Given the description of an element on the screen output the (x, y) to click on. 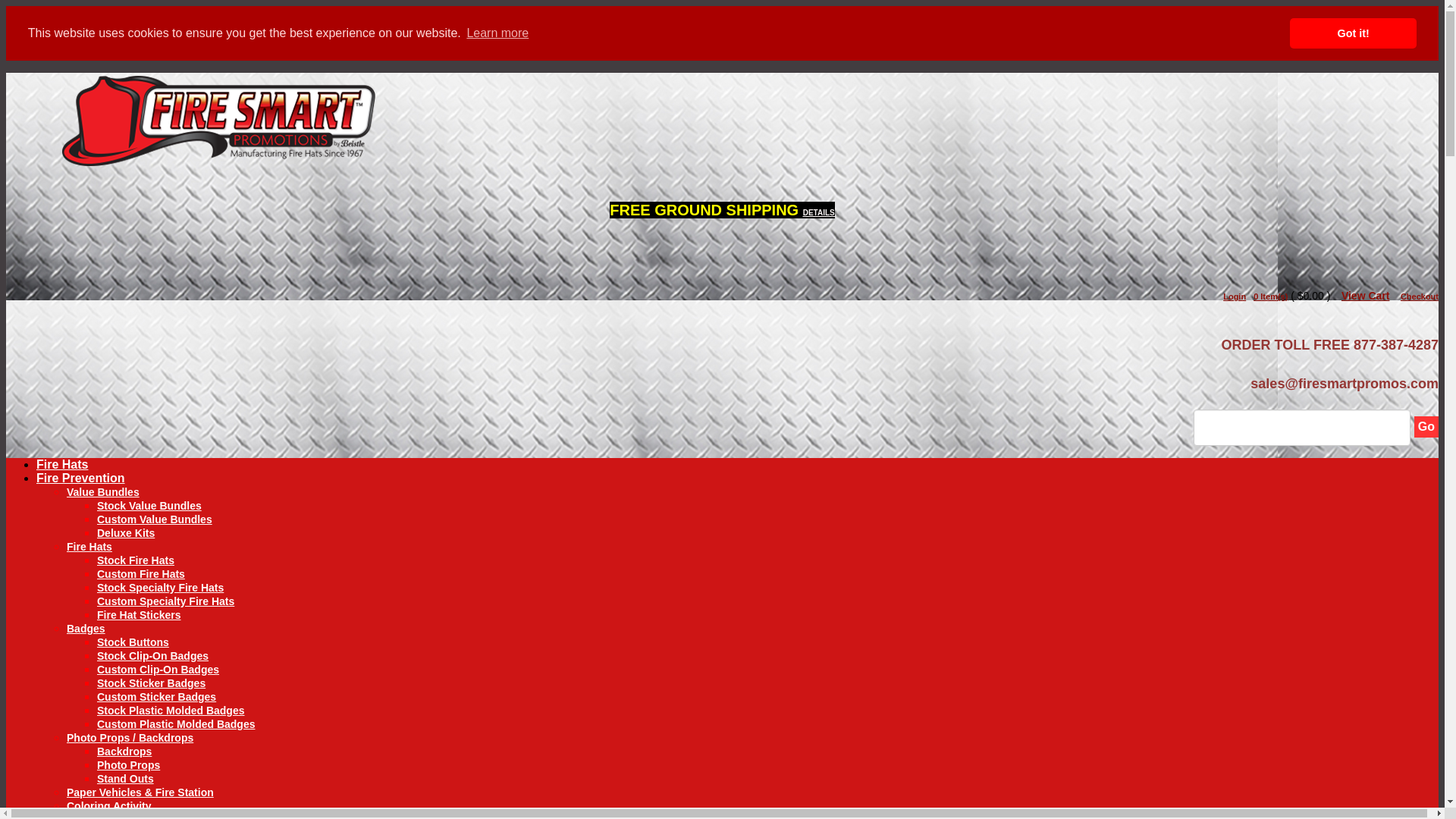
Fire Hats (61, 463)
Custom Fire Hats (140, 573)
Checkout (1419, 296)
Got it! (1353, 33)
Stock Fire Hats (135, 560)
Backdrops (124, 751)
View Cart (1365, 296)
Coloring Activity (108, 806)
Stock Specialty Fire Hats (160, 587)
Fire Prevention (79, 477)
Login (1234, 296)
DETAILS (818, 212)
Fun Packs (123, 816)
Custom Sticker Badges (156, 696)
Stock Sticker Badges (151, 683)
